Given the description of an element on the screen output the (x, y) to click on. 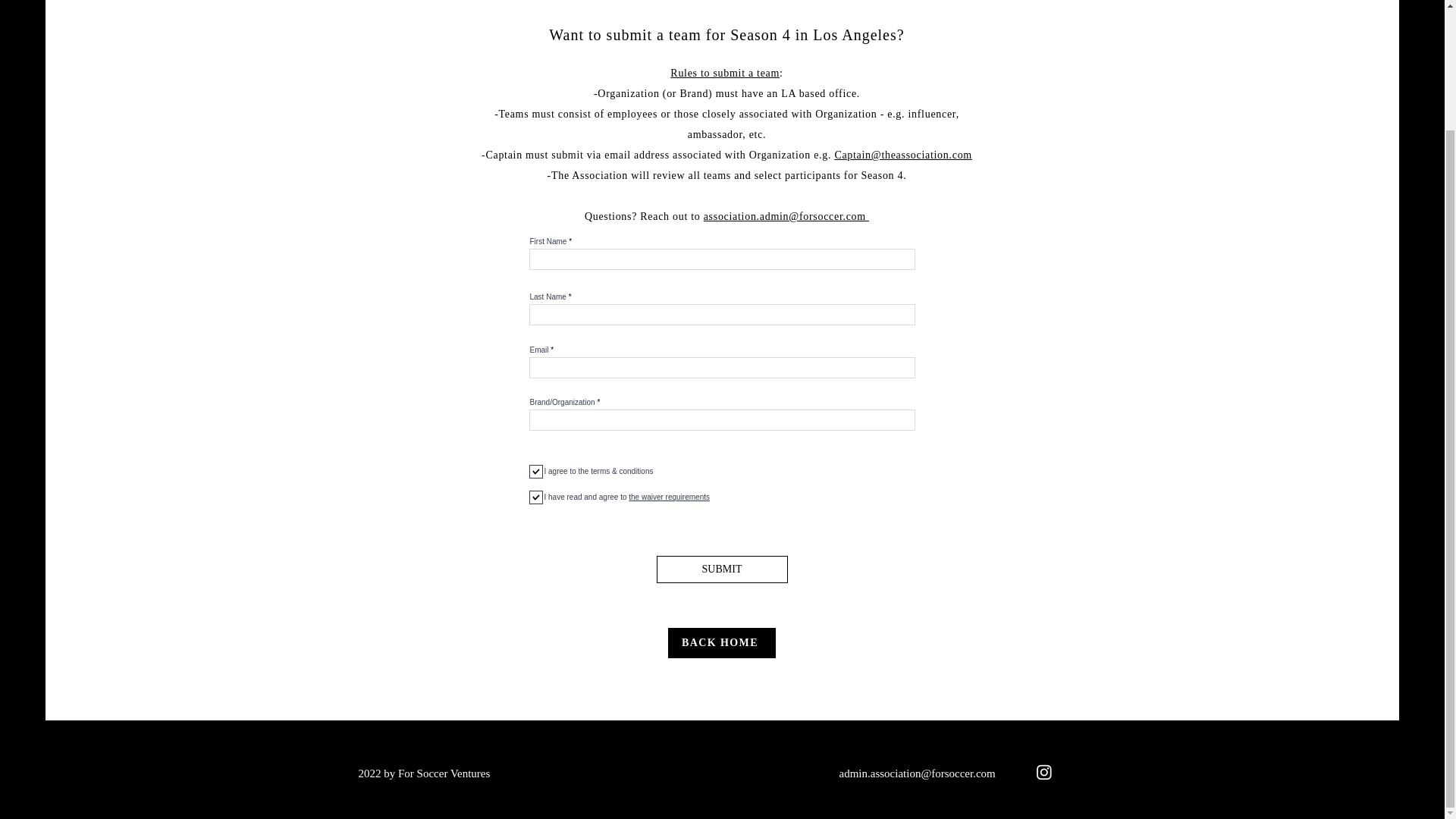
SUBMIT (721, 569)
the waiver requirements (668, 497)
BACK HOME (720, 643)
